Given the description of an element on the screen output the (x, y) to click on. 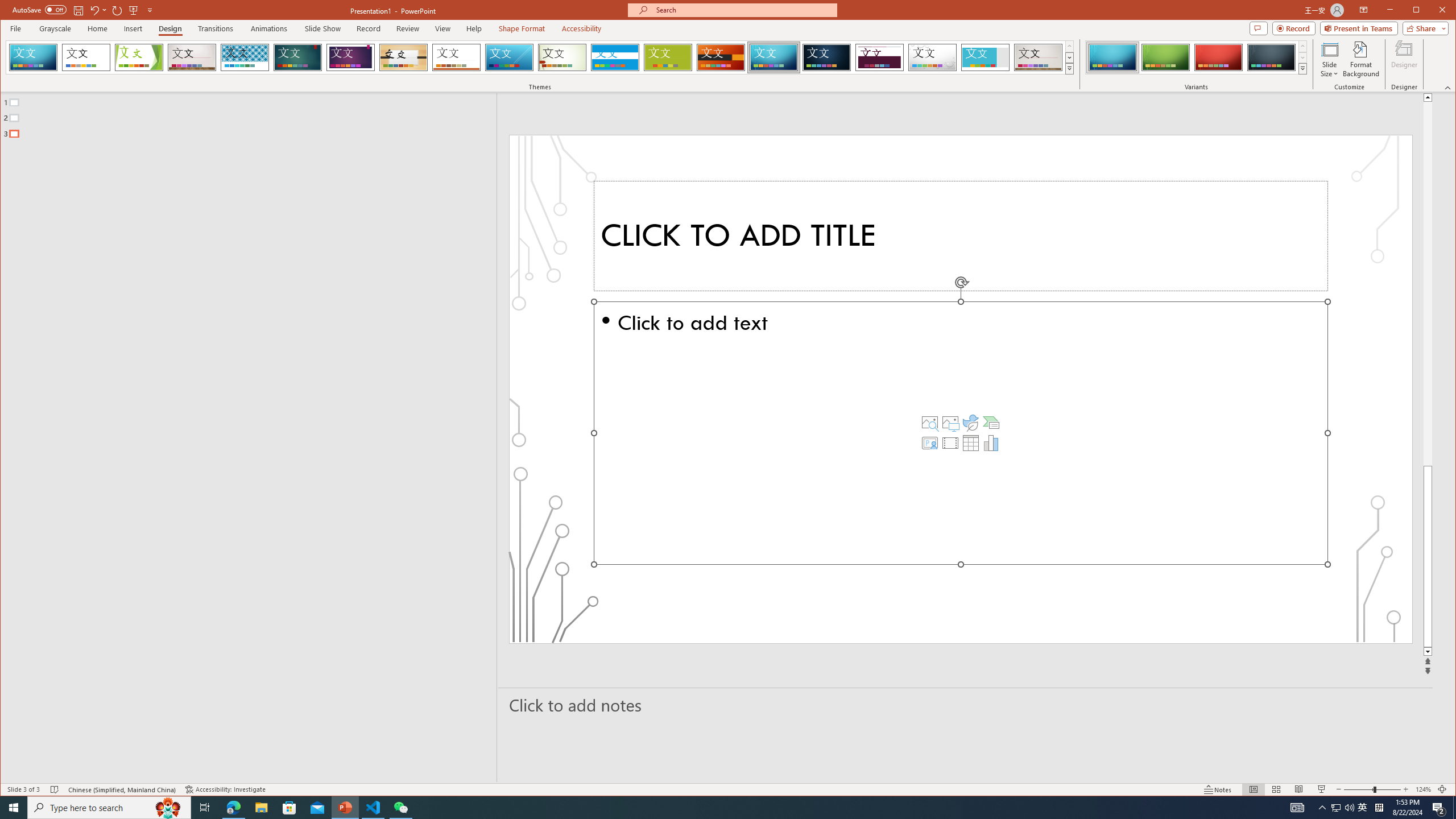
Insert an Icon (970, 422)
Insert Table (970, 443)
Berlin (720, 57)
AutomationID: SlideThemesGallery (540, 57)
Variants (1302, 68)
AutomationID: ThemeVariantsGallery (1196, 57)
Themes (1069, 68)
